Given the description of an element on the screen output the (x, y) to click on. 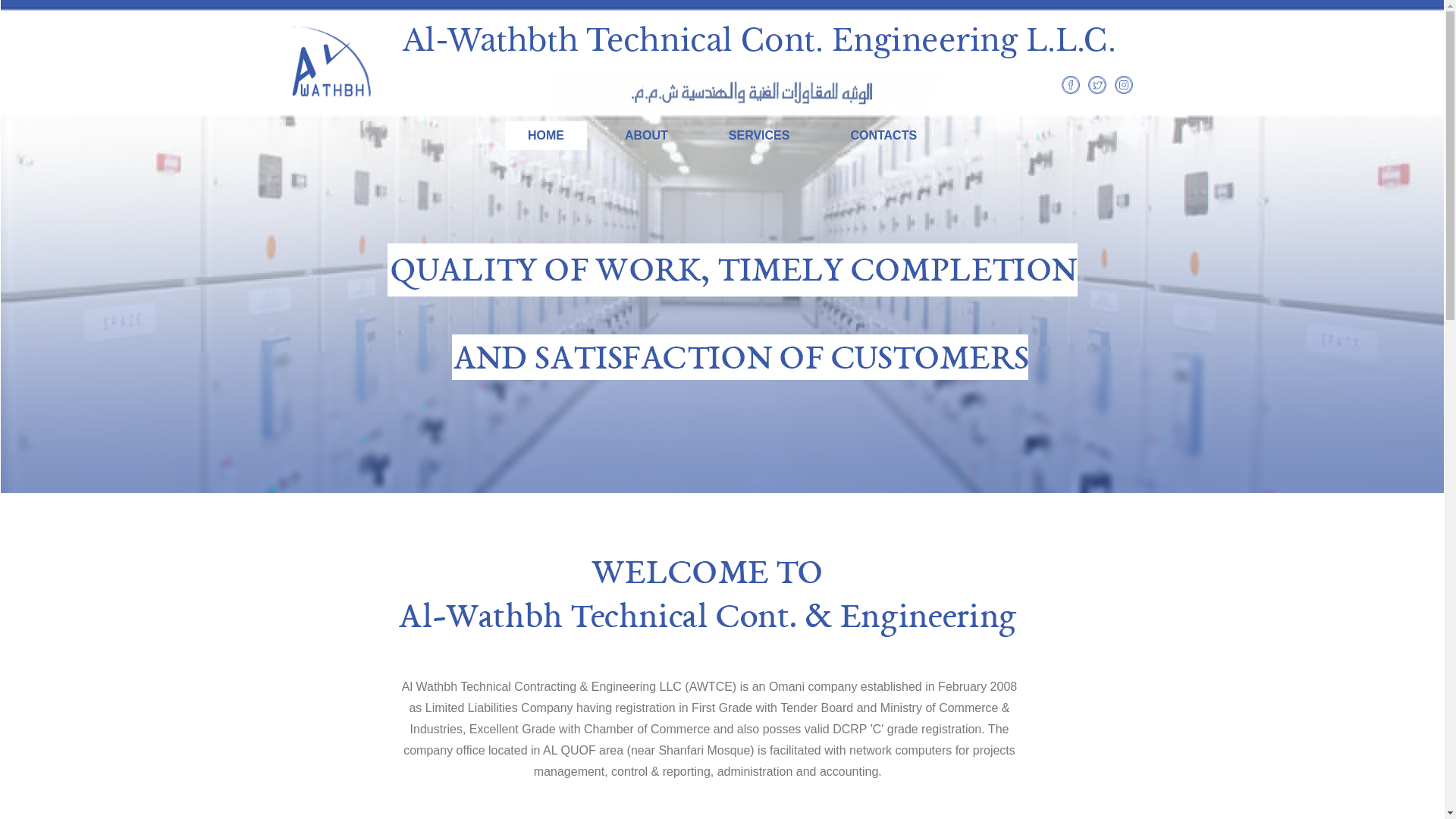
CONTACTS (883, 135)
SERVICES (759, 135)
ABOUT (646, 135)
HOME (545, 135)
